Given the description of an element on the screen output the (x, y) to click on. 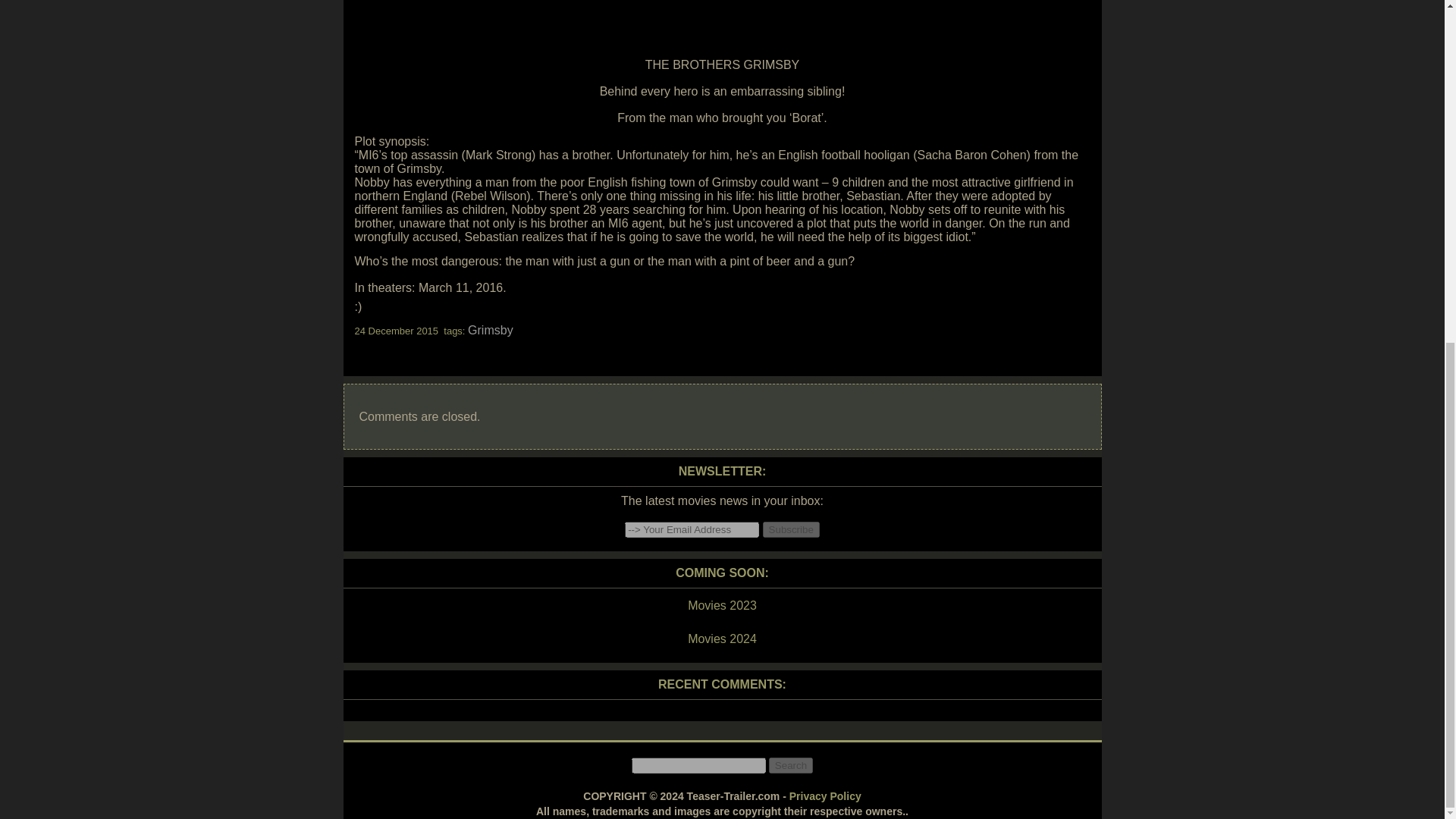
Subscribe (790, 529)
Subscribe (790, 529)
Privacy Policy (825, 796)
Grimsby (490, 329)
Search (790, 765)
Search (790, 765)
Movies 2024 (721, 639)
Movies 2023 (721, 605)
